Given the description of an element on the screen output the (x, y) to click on. 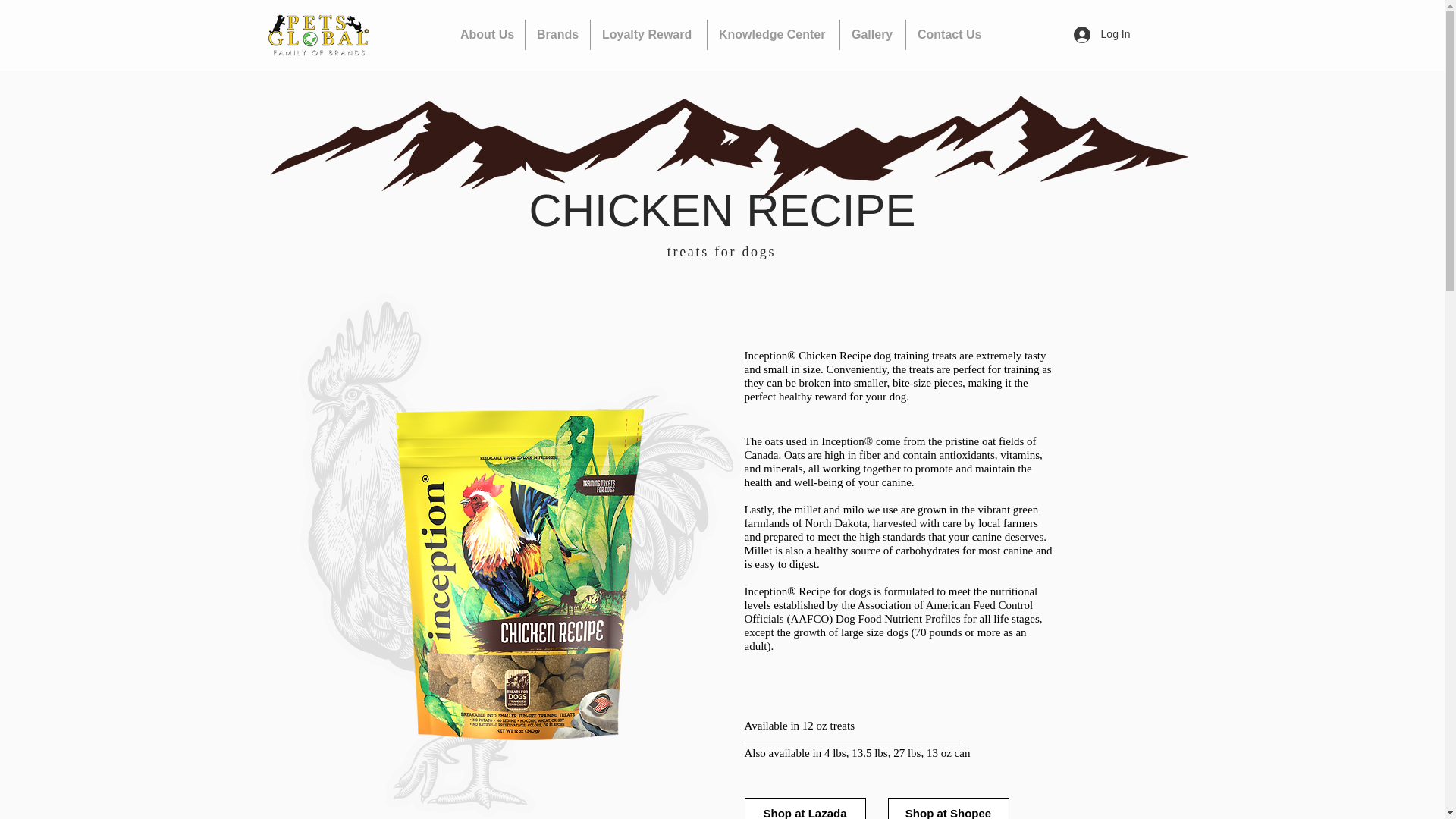
Gallery (872, 34)
Shop at Shopee (947, 808)
Contact Us (949, 34)
Brands (557, 34)
Shop at Lazada (805, 808)
About Us (486, 34)
Knowledge Center (773, 34)
Loyalty Reward (648, 34)
Log In (1101, 34)
